Given the description of an element on the screen output the (x, y) to click on. 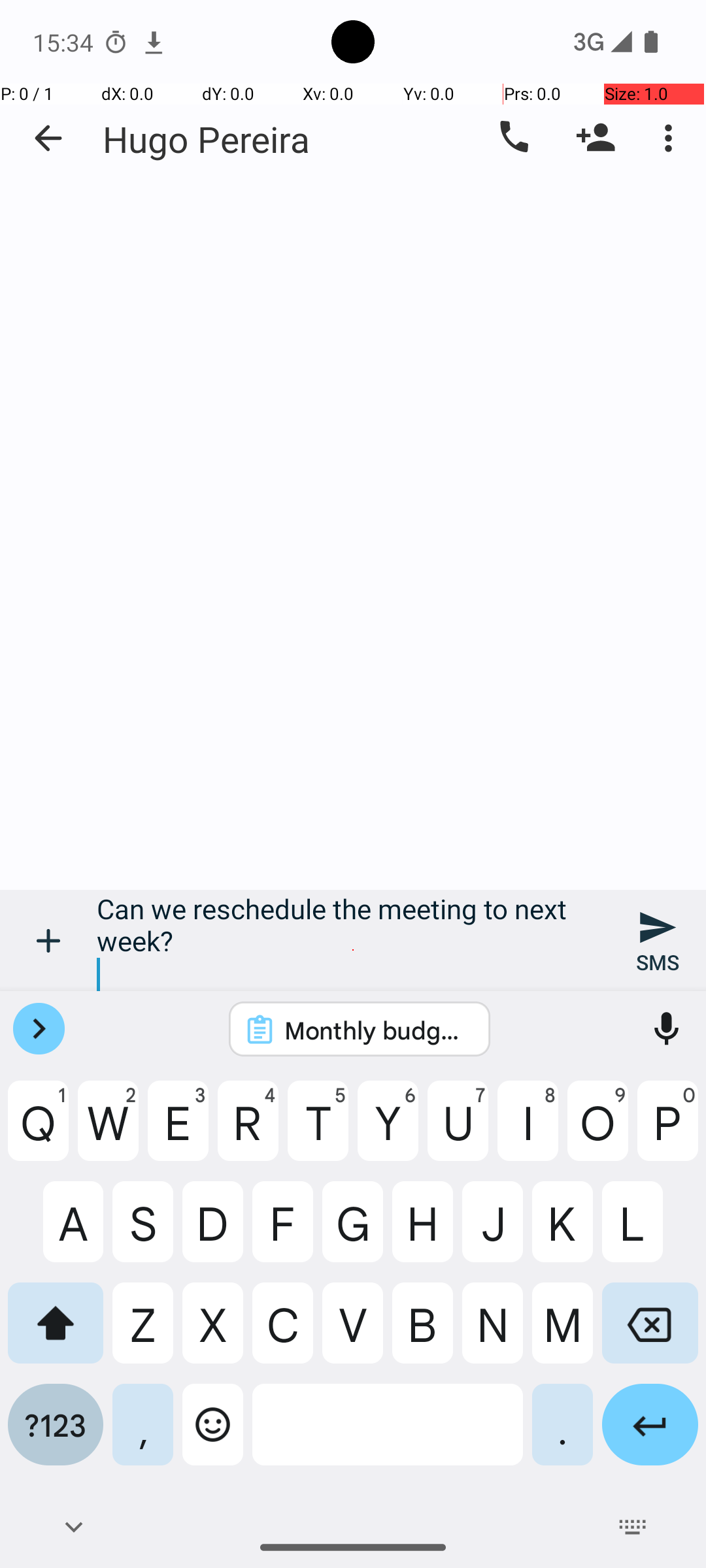
Can we reschedule the meeting to next week?
 Element type: android.widget.EditText (352, 940)
Monthly budget meeting pushed to Friday. Element type: android.widget.TextView (376, 1029)
